Given the description of an element on the screen output the (x, y) to click on. 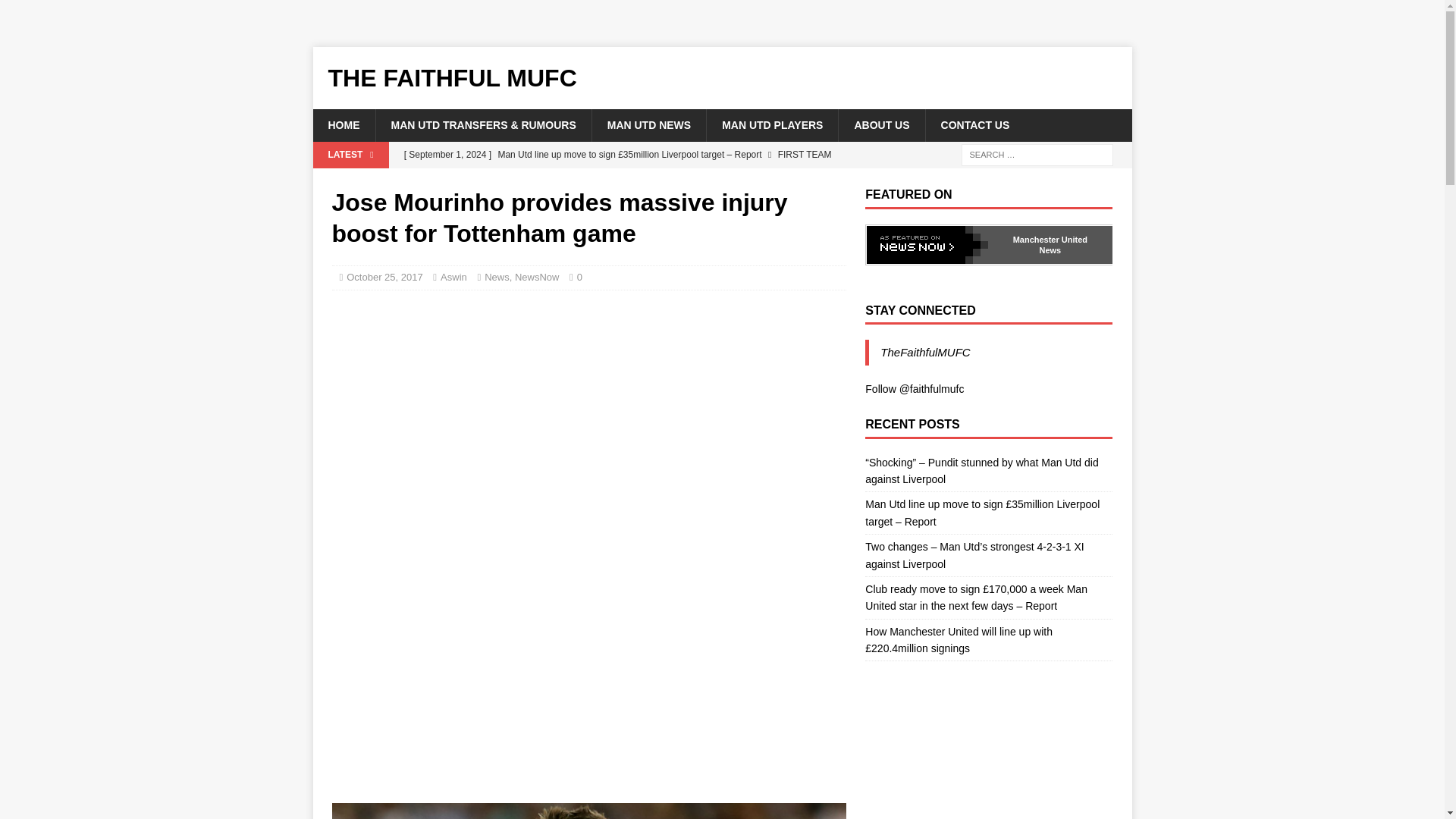
HOME (343, 124)
The Faithful MUFC (721, 78)
phil-jones-manchester-united (588, 811)
THE FAITHFUL MUFC (721, 78)
Search (56, 11)
CONTACT US (974, 124)
Aswin (454, 276)
NewsNow (537, 276)
News (496, 276)
MAN UTD NEWS (648, 124)
